Given the description of an element on the screen output the (x, y) to click on. 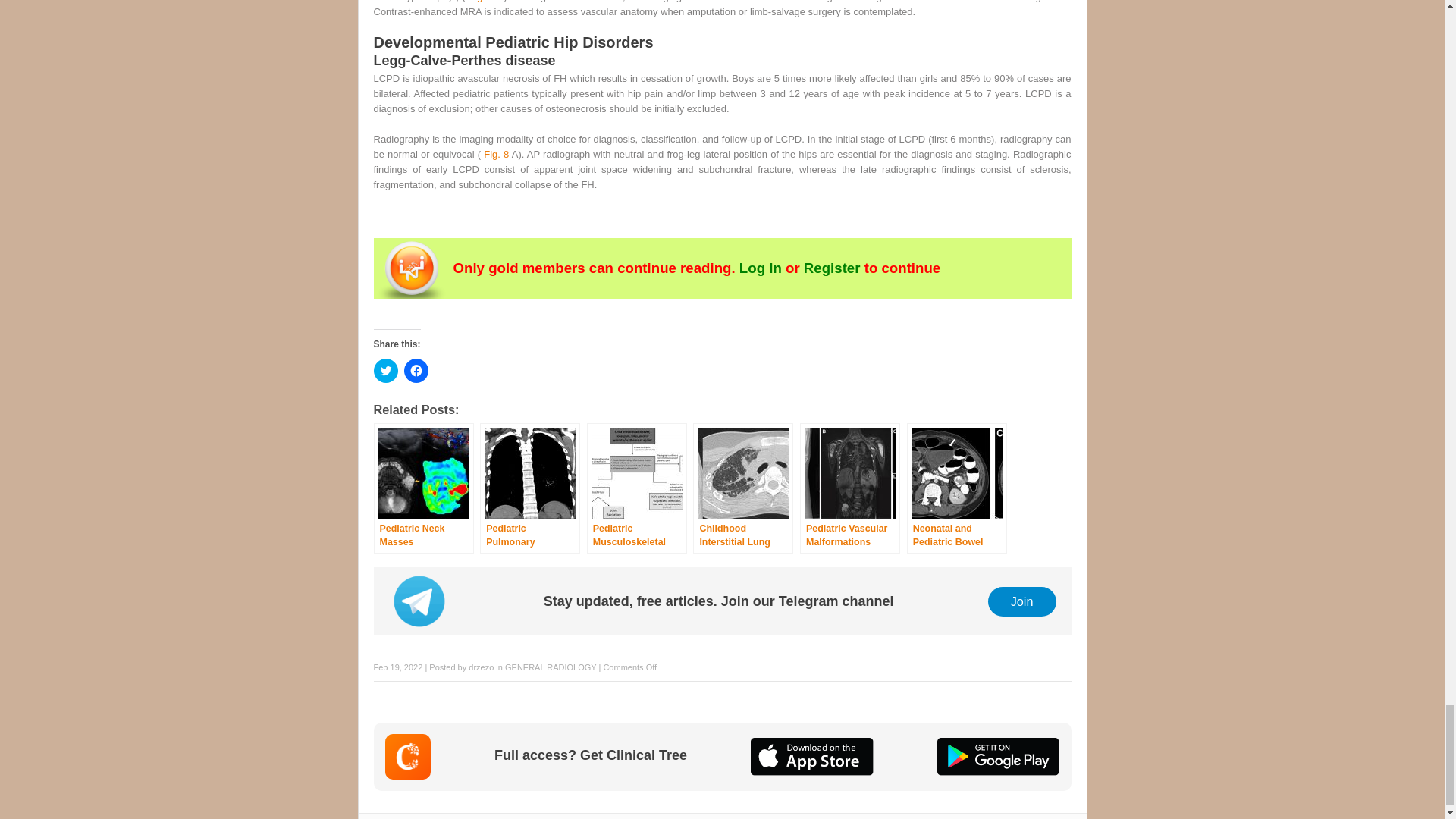
Click to share on Twitter (384, 370)
Click to share on Facebook (415, 370)
Posts by drzezo (480, 666)
